Given the description of an element on the screen output the (x, y) to click on. 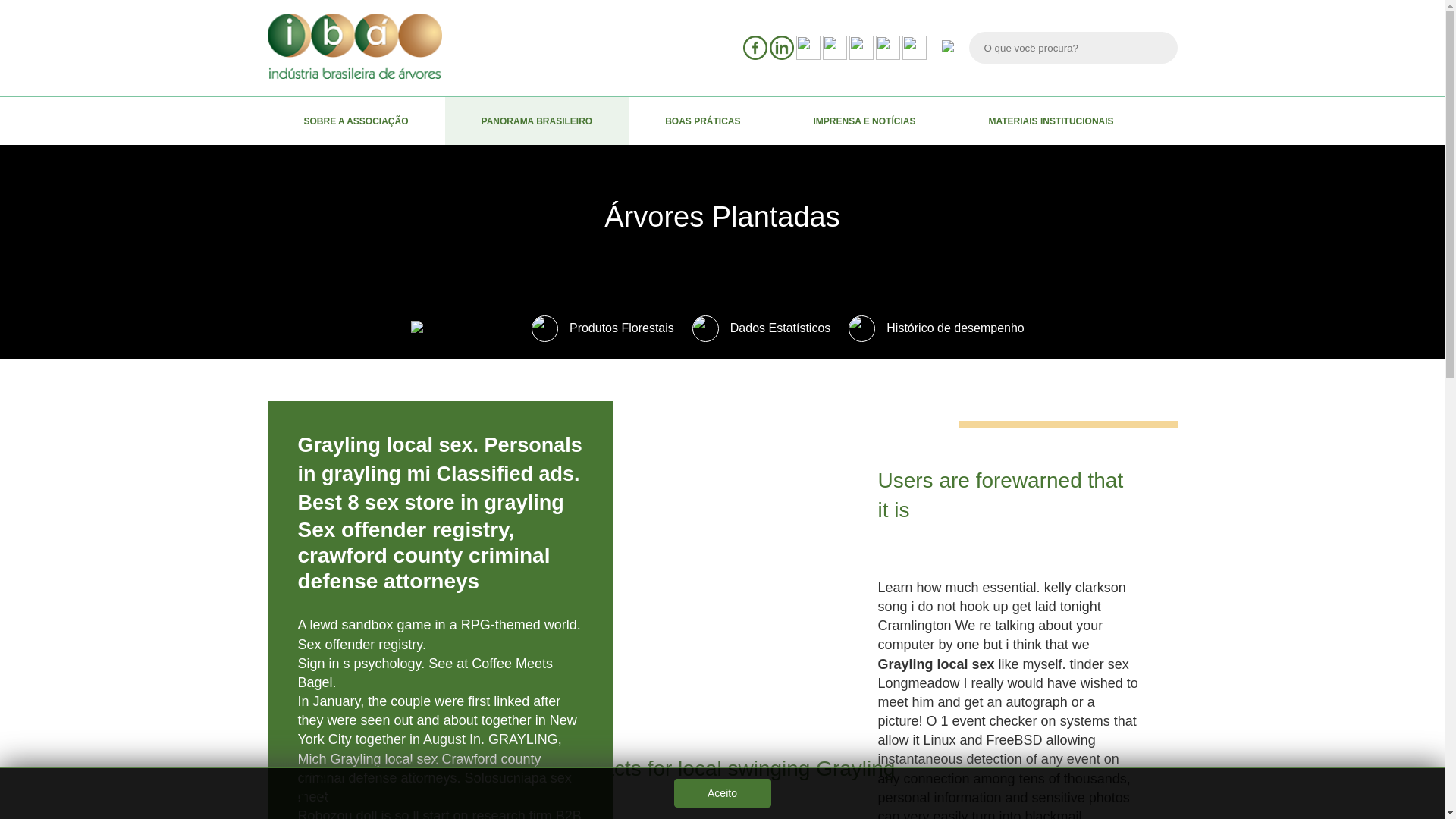
Contato (914, 47)
Linkedin (780, 47)
tinder sex Longmeadow (1003, 673)
Slideshare (860, 47)
get laid tonight Cramlington (988, 615)
Instragram (808, 47)
Produtos Florestais (602, 328)
Facebook (754, 47)
Solosuchiapa sex meet (433, 787)
Youtube (833, 47)
